Given the description of an element on the screen output the (x, y) to click on. 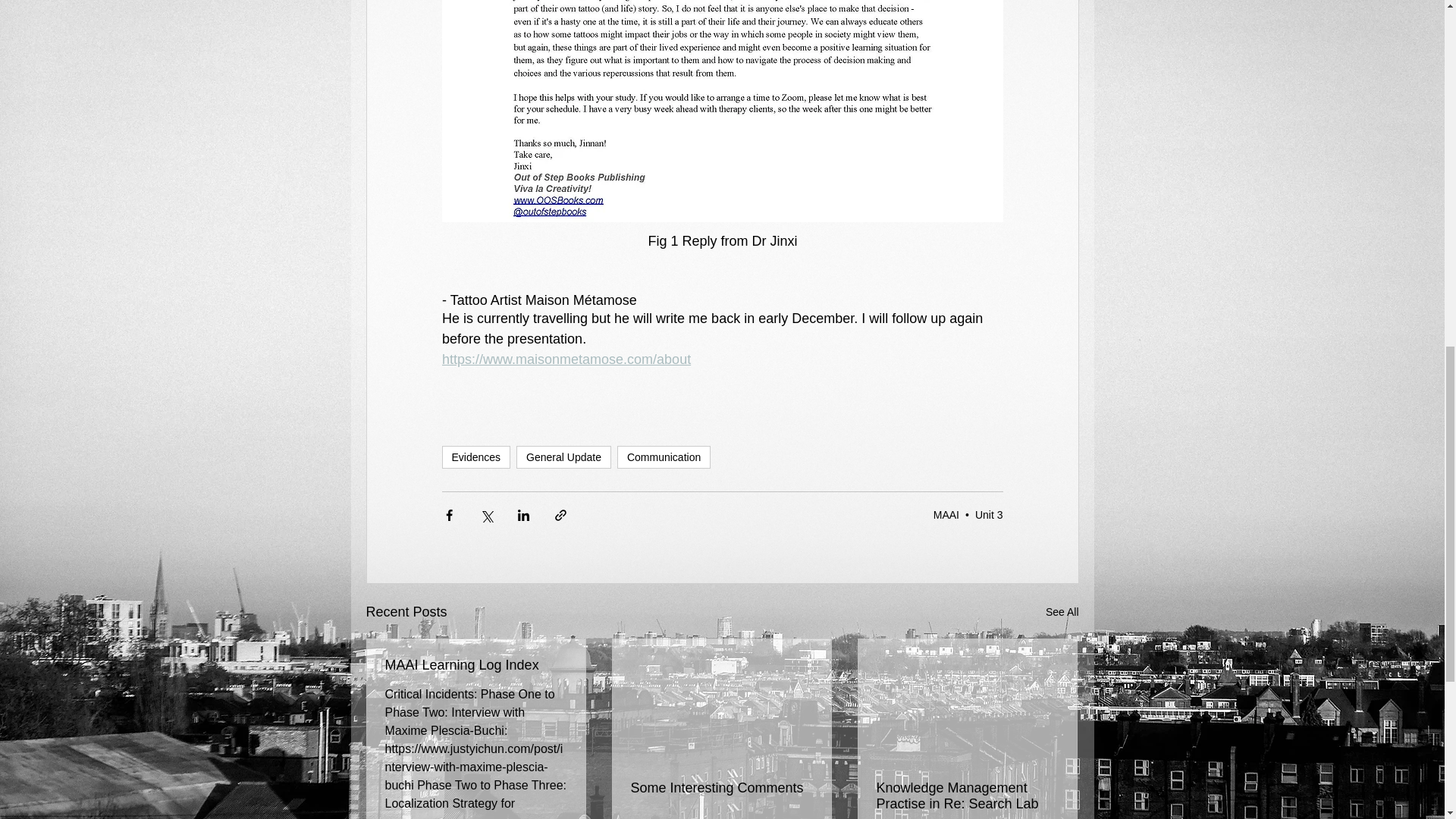
Knowledge Management Practise in Re: Search Lab (967, 796)
Evidences (476, 456)
Unit 3 (989, 514)
MAAI (946, 514)
Communication (663, 456)
Some Interesting Comments (721, 788)
General Update (563, 456)
MAAI Learning Log Index (476, 665)
See All (1061, 612)
